Given the description of an element on the screen output the (x, y) to click on. 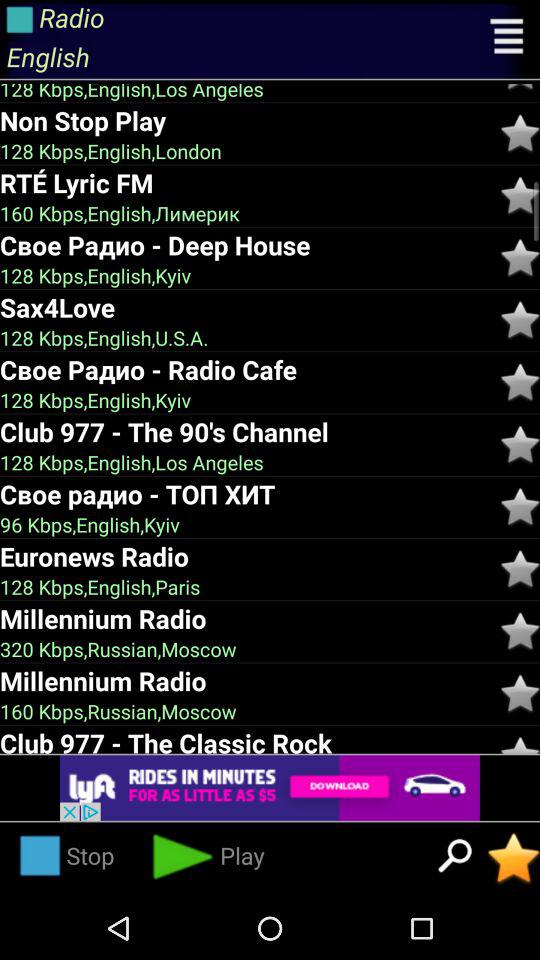
add to favorite (520, 693)
